Given the description of an element on the screen output the (x, y) to click on. 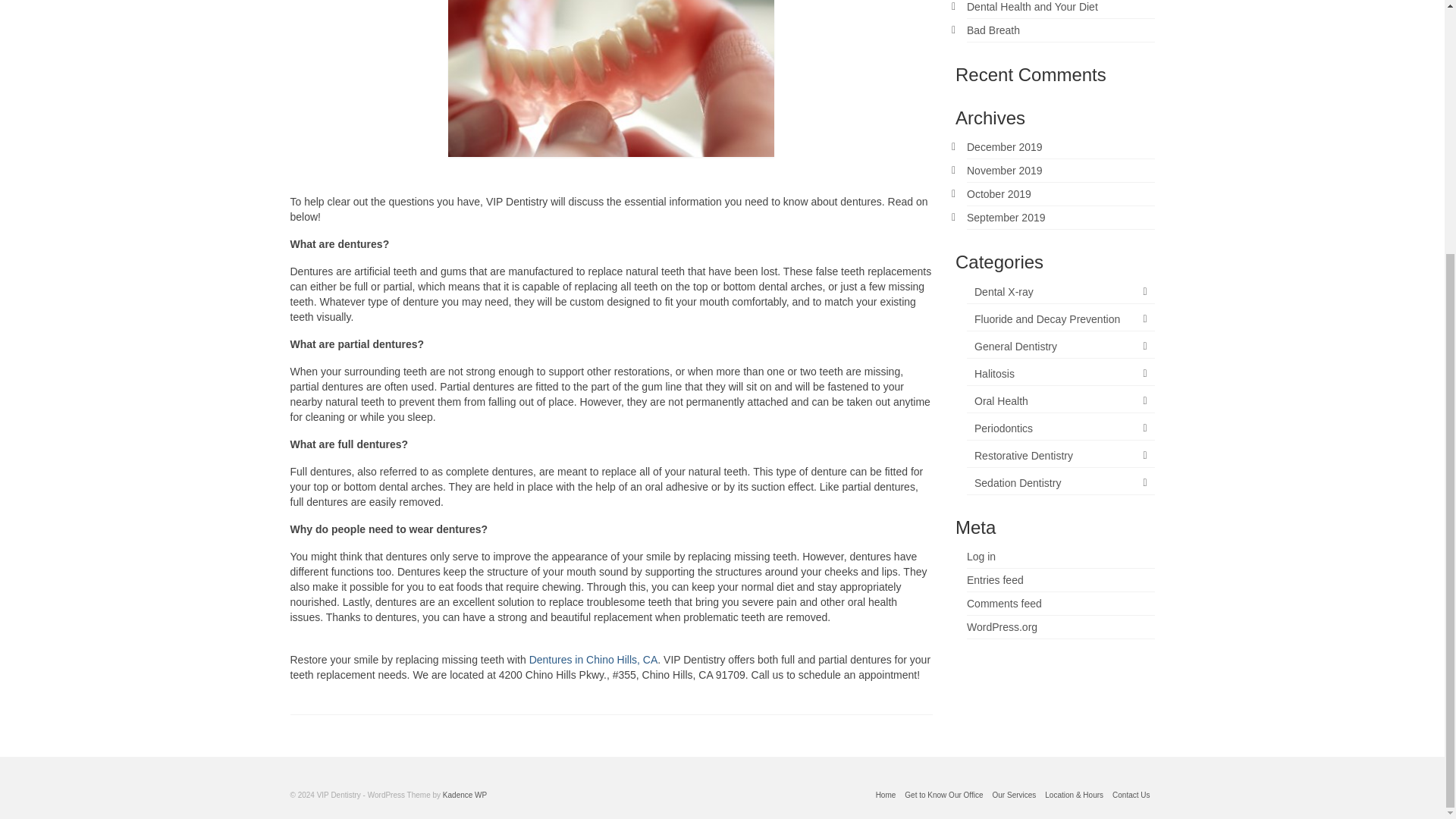
December 2019 (1004, 146)
Dentures in Chino Hills, CA (593, 659)
Entries feed (994, 580)
General Dentistry (1060, 346)
Fluoride and Decay Prevention (1060, 319)
Home (885, 795)
Bad Breath (993, 30)
Dental Health and Your Diet (1031, 6)
Halitosis (1060, 373)
September 2019 (1005, 217)
